Given the description of an element on the screen output the (x, y) to click on. 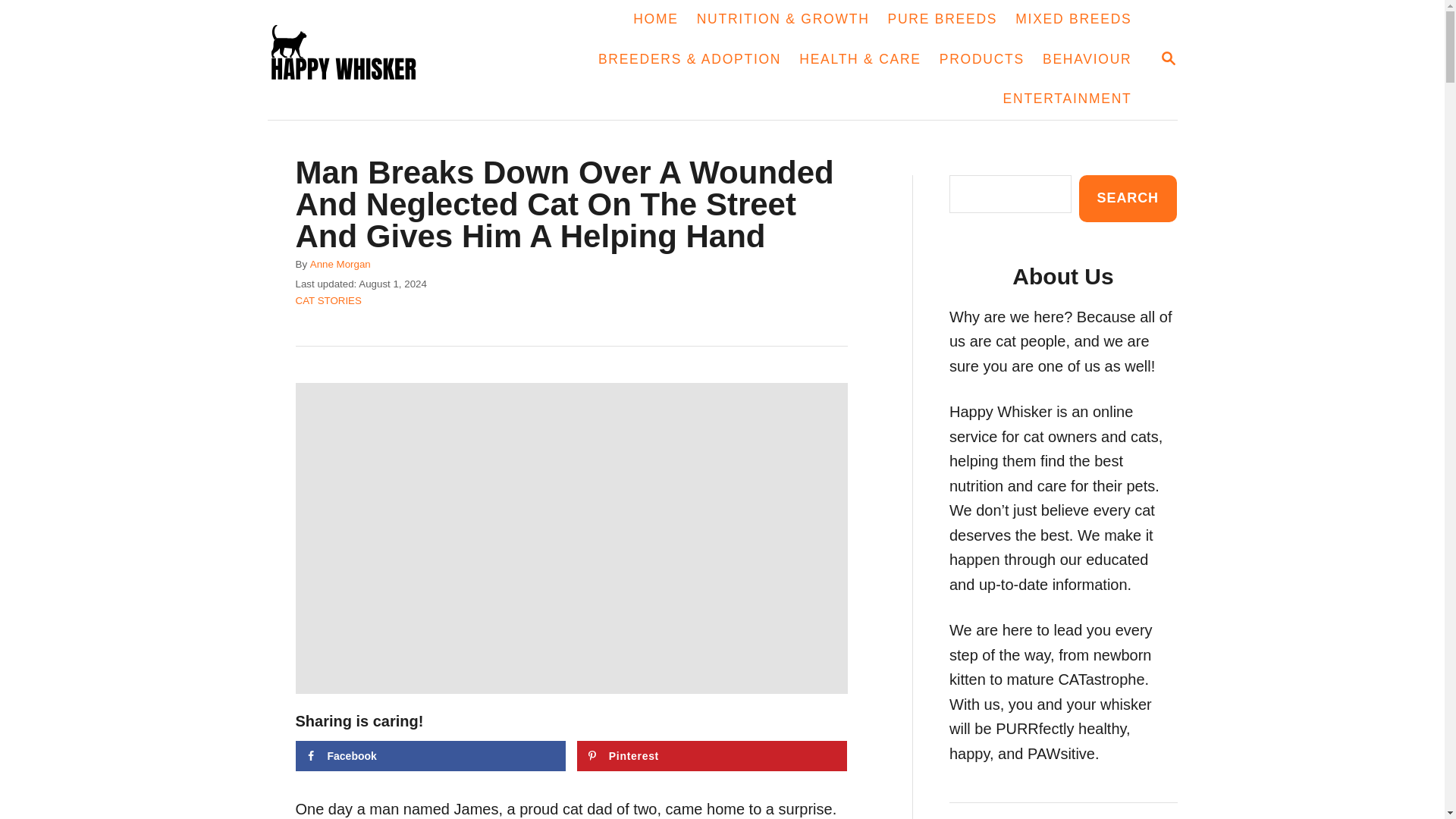
Share on Facebook (430, 756)
BEHAVIOUR (1087, 59)
MIXED BREEDS (1073, 19)
Save to Pinterest (711, 756)
CAT STORIES (328, 300)
PURE BREEDS (943, 19)
Pinterest (1167, 59)
Facebook (711, 756)
happywhisker (430, 756)
